Given the description of an element on the screen output the (x, y) to click on. 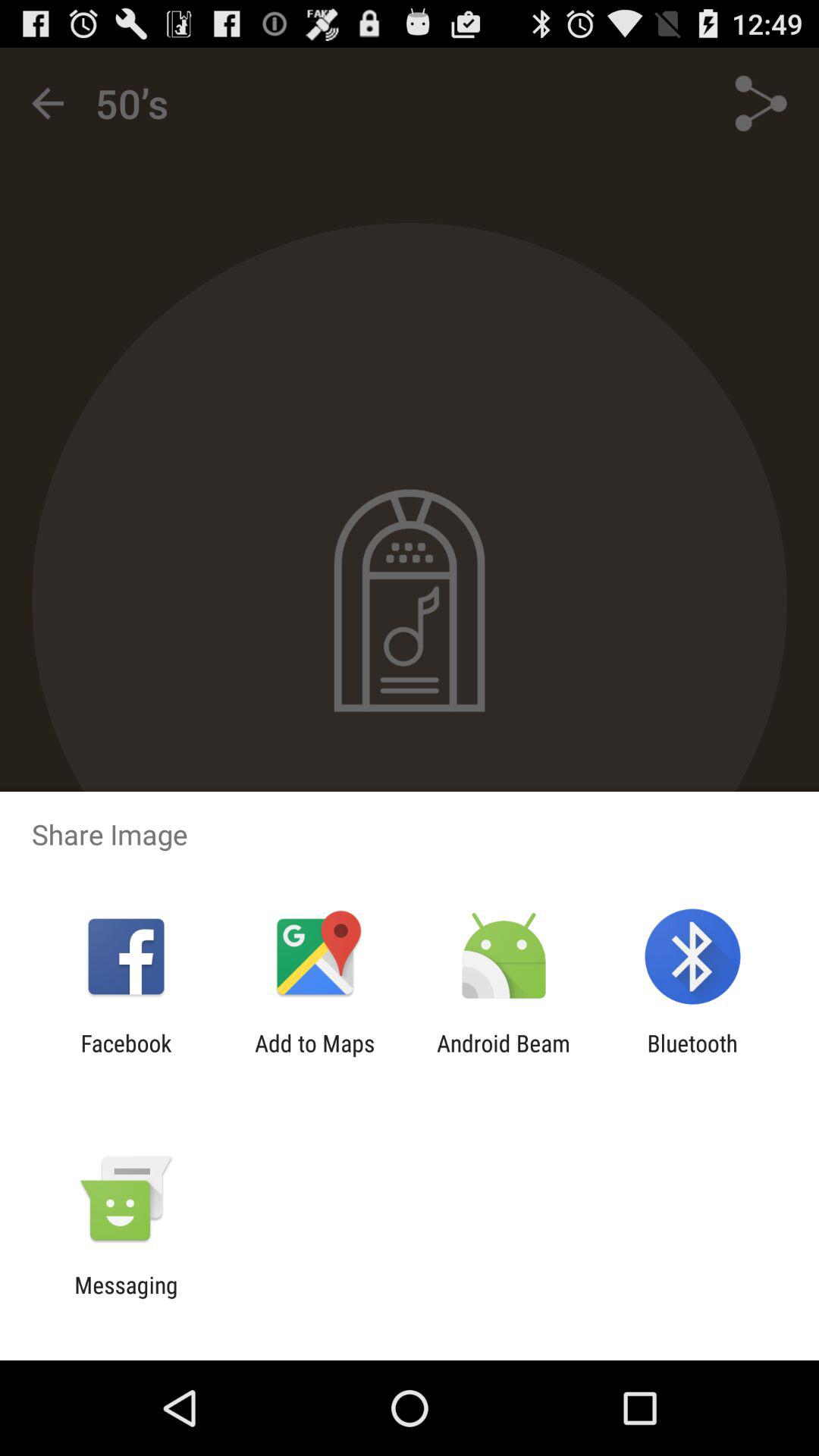
select app to the right of facebook app (314, 1056)
